Given the description of an element on the screen output the (x, y) to click on. 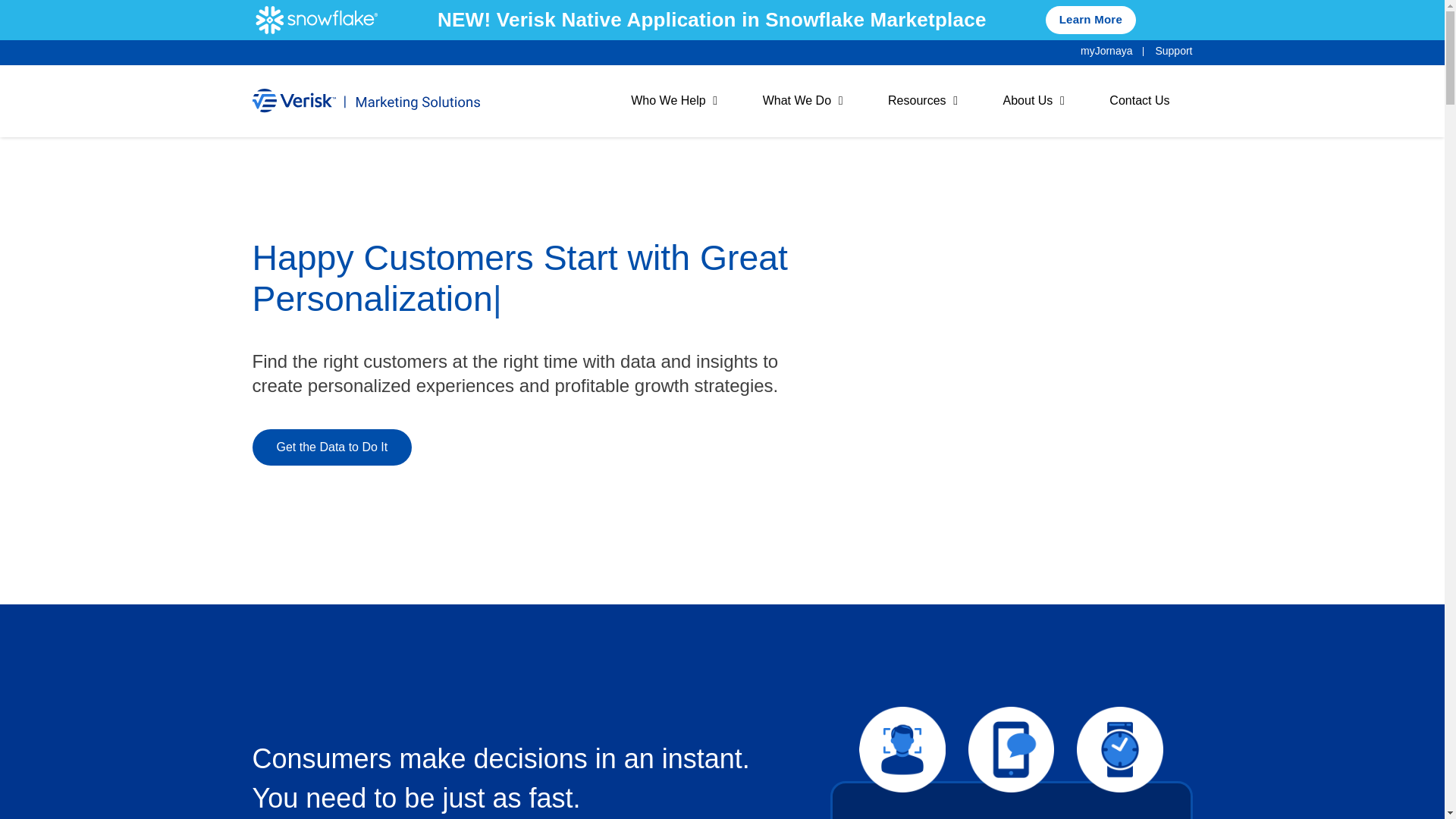
About Us (1033, 100)
icon-right-person (901, 749)
Get the Data to Do It (900, 100)
icon-right-time (331, 447)
icon-right-message (1120, 749)
Resources (1011, 749)
Contact Us (921, 100)
